Given the description of an element on the screen output the (x, y) to click on. 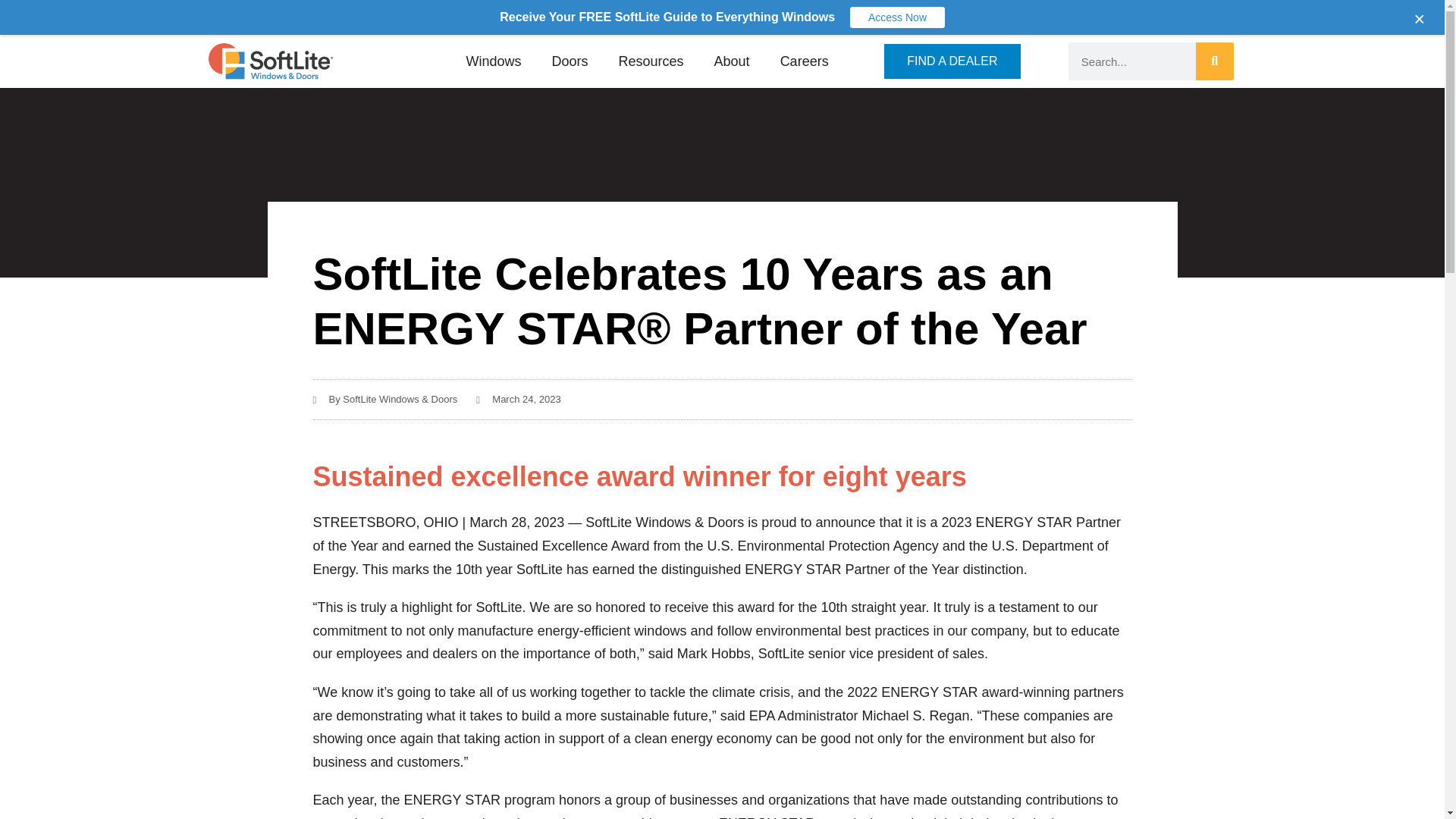
BECOME A SOFLITE DEALER (469, 17)
Windows (492, 61)
PRODUCT REGISTRATION (996, 17)
GET A FREE QUOTE (321, 17)
Doors (570, 61)
Get a Free Quote (321, 17)
Resources (651, 61)
LIFETIME WARRANTY (1140, 17)
IMAGE GALLERY (863, 17)
BLOG (780, 17)
